Given the description of an element on the screen output the (x, y) to click on. 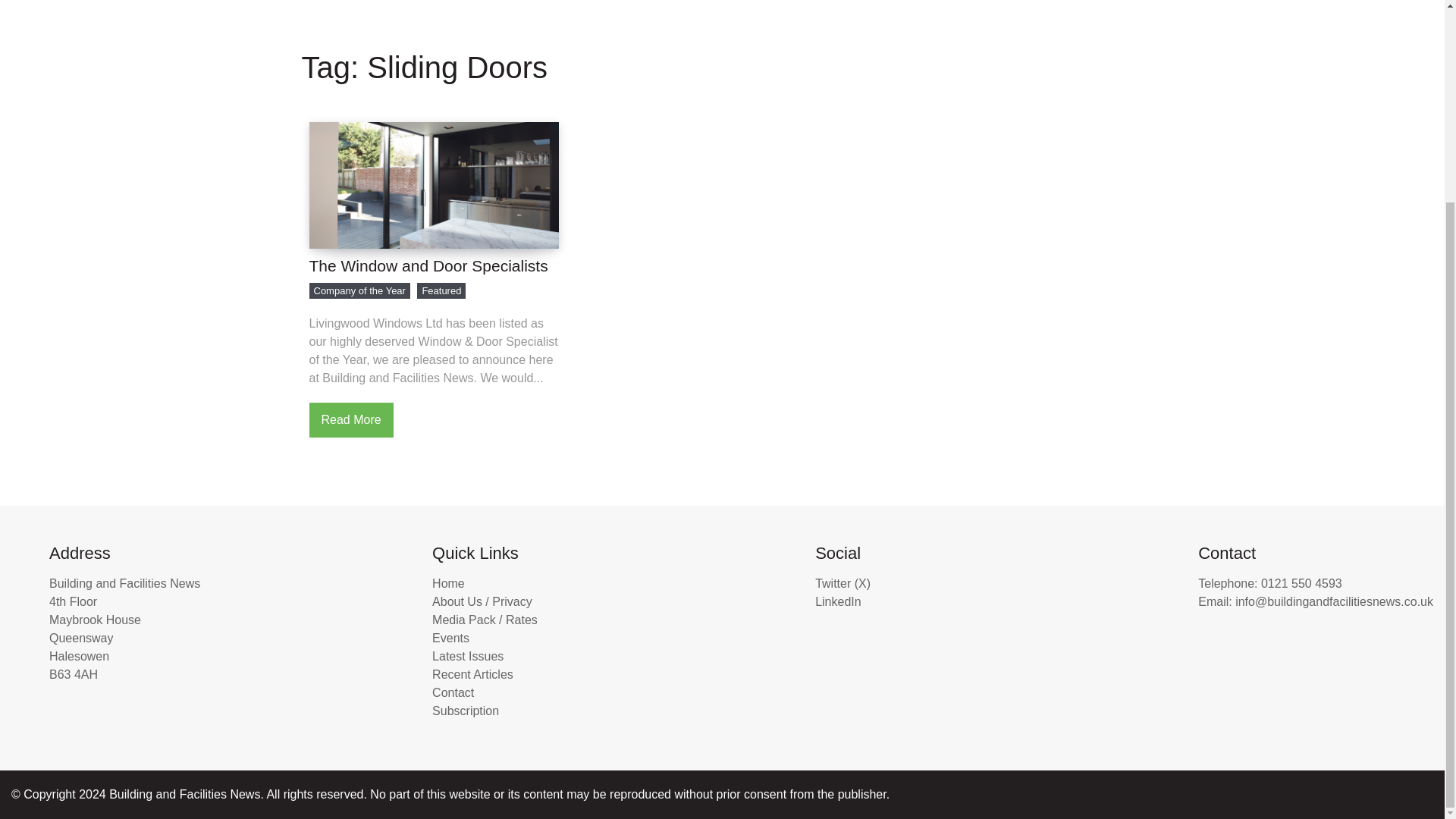
Home (34, 2)
Recent Articles (1028, 2)
Featured (440, 290)
Latest Issues (467, 656)
Recent Articles (1028, 2)
Events (649, 2)
Company of the Year (359, 290)
Home (448, 583)
Latest Issues (826, 2)
Subscription (1390, 2)
Events (450, 637)
Contact (1213, 2)
Latest Issues (826, 2)
Read More (350, 419)
Recent Articles (472, 674)
